Given the description of an element on the screen output the (x, y) to click on. 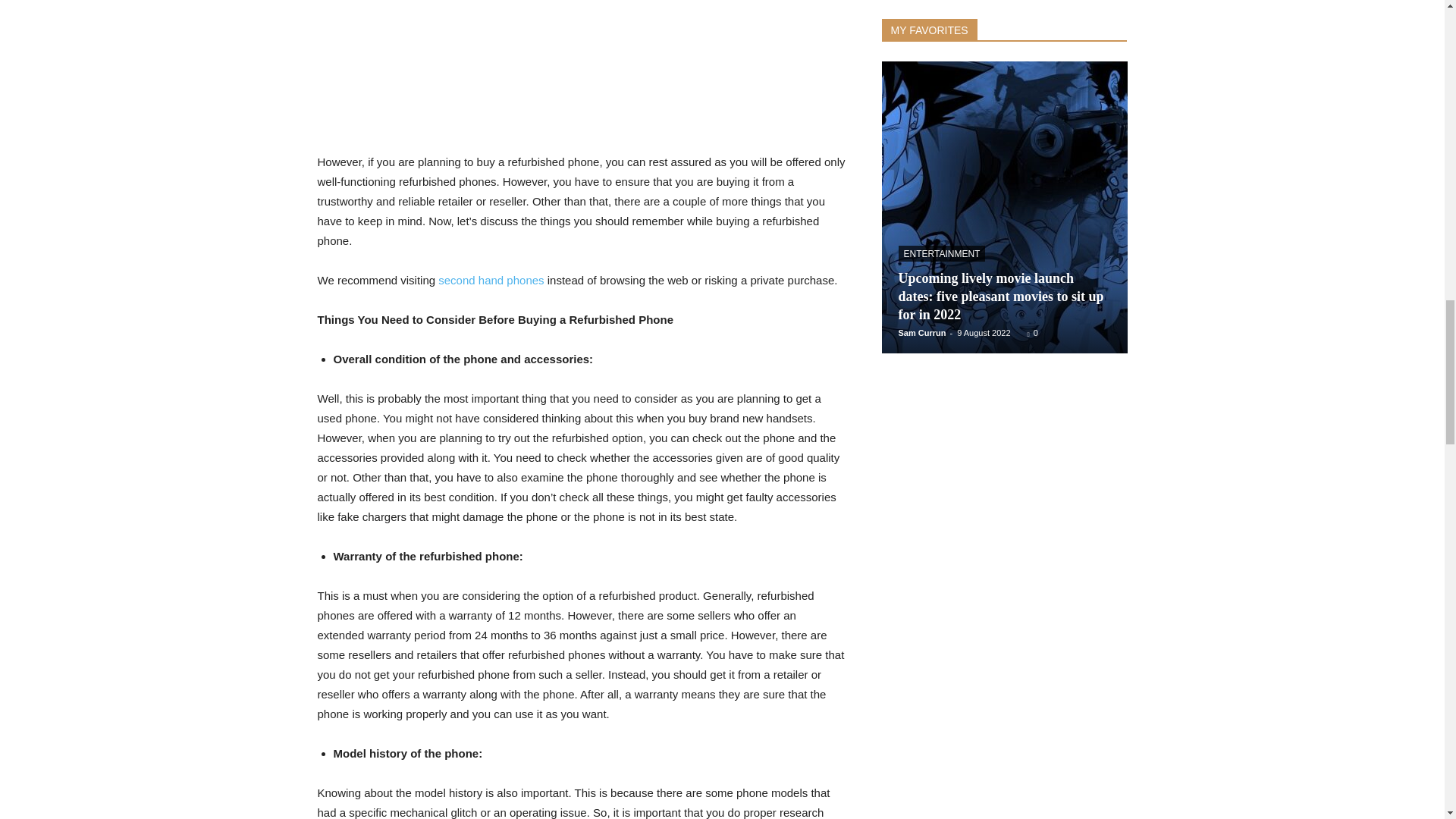
Advertisement (580, 73)
